Given the description of an element on the screen output the (x, y) to click on. 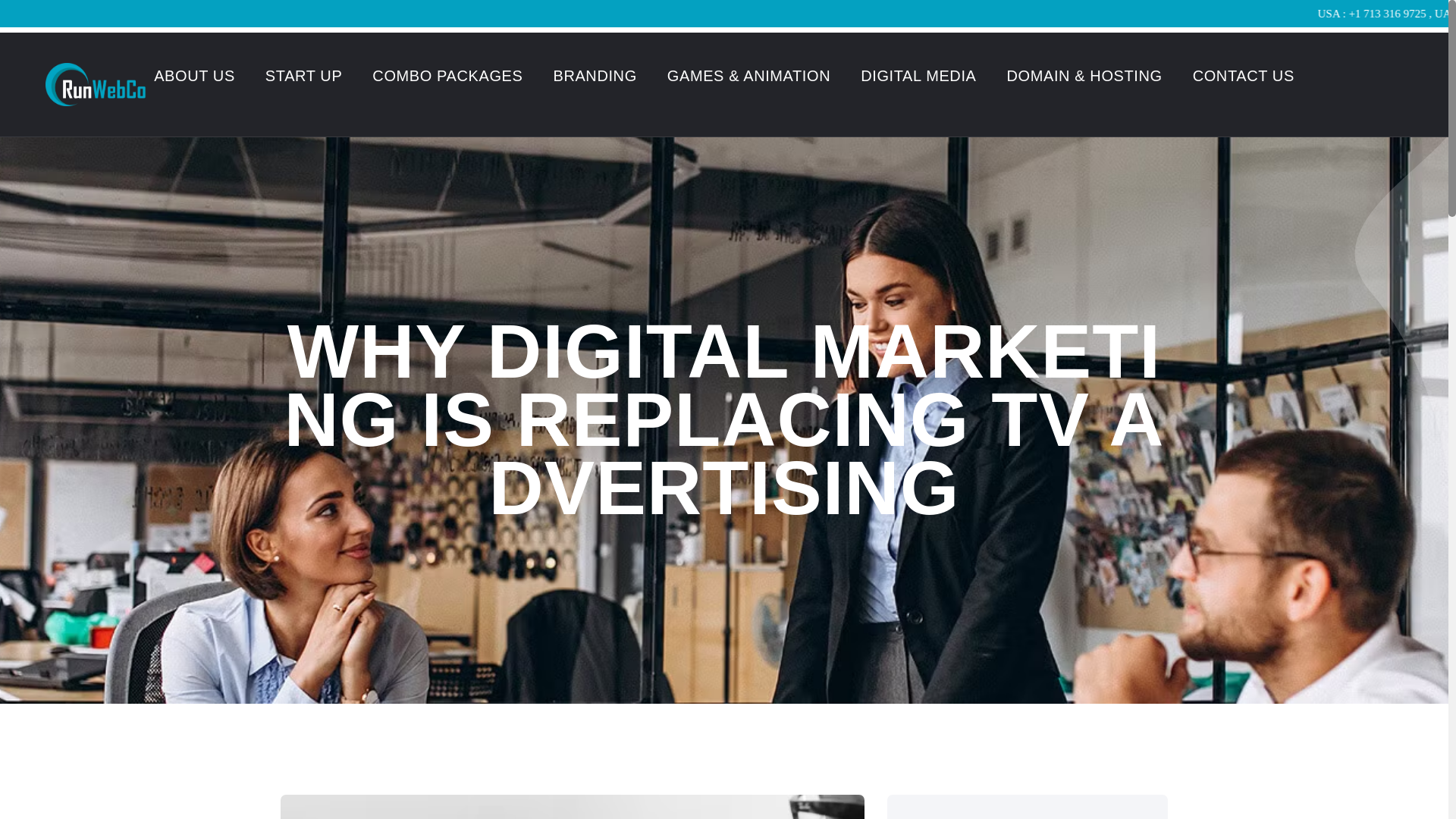
ABOUT US (194, 75)
CONTACT US (1243, 75)
START UP (303, 75)
BRANDING (594, 75)
COMBO PACKAGES (447, 75)
DIGITAL MEDIA (917, 75)
